Given the description of an element on the screen output the (x, y) to click on. 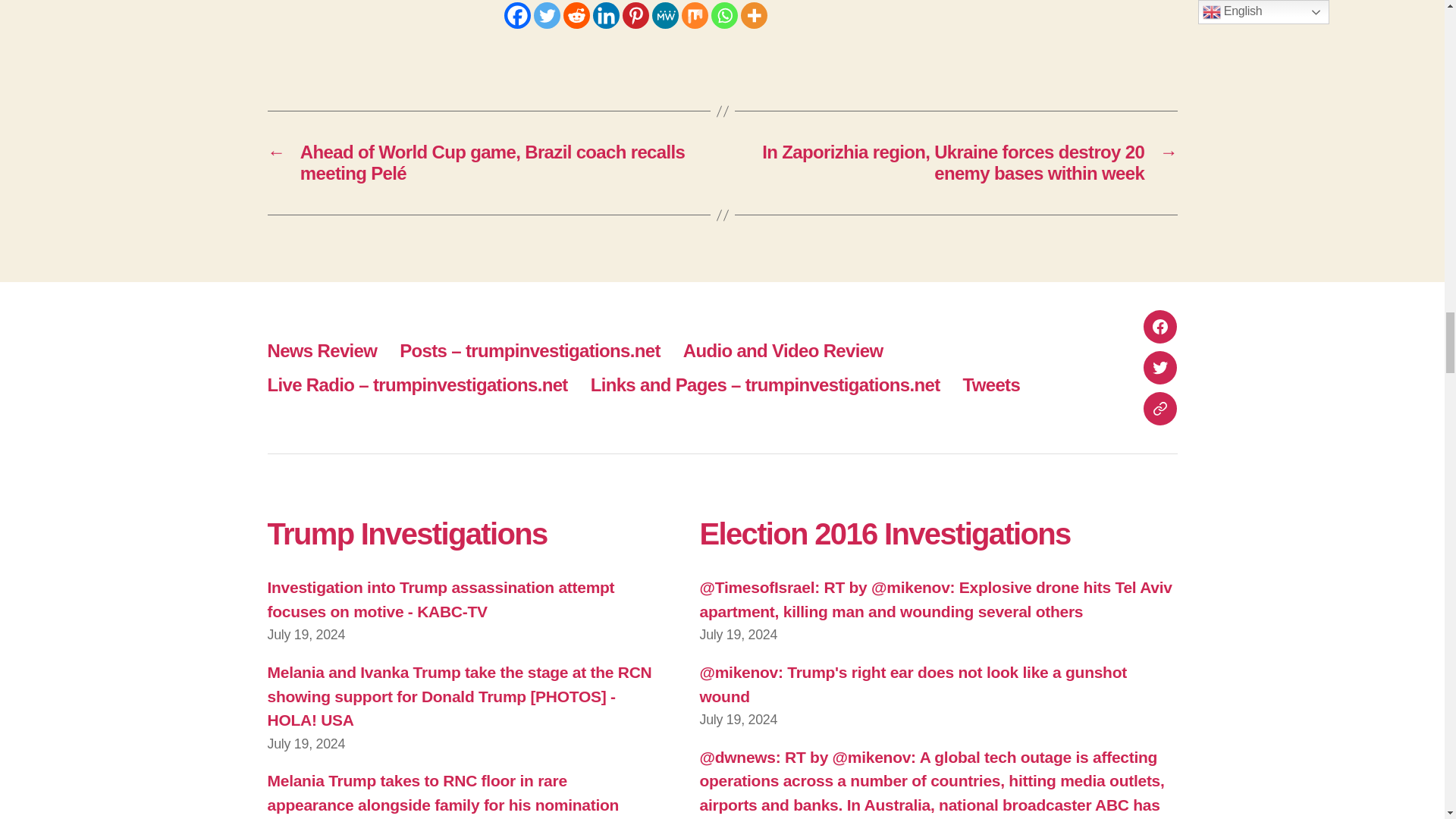
Whatsapp (724, 15)
Facebook (516, 15)
Reddit (575, 15)
Linkedin (606, 15)
Mix (694, 15)
MeWe (665, 15)
Twitter (547, 15)
Pinterest (634, 15)
